Given the description of an element on the screen output the (x, y) to click on. 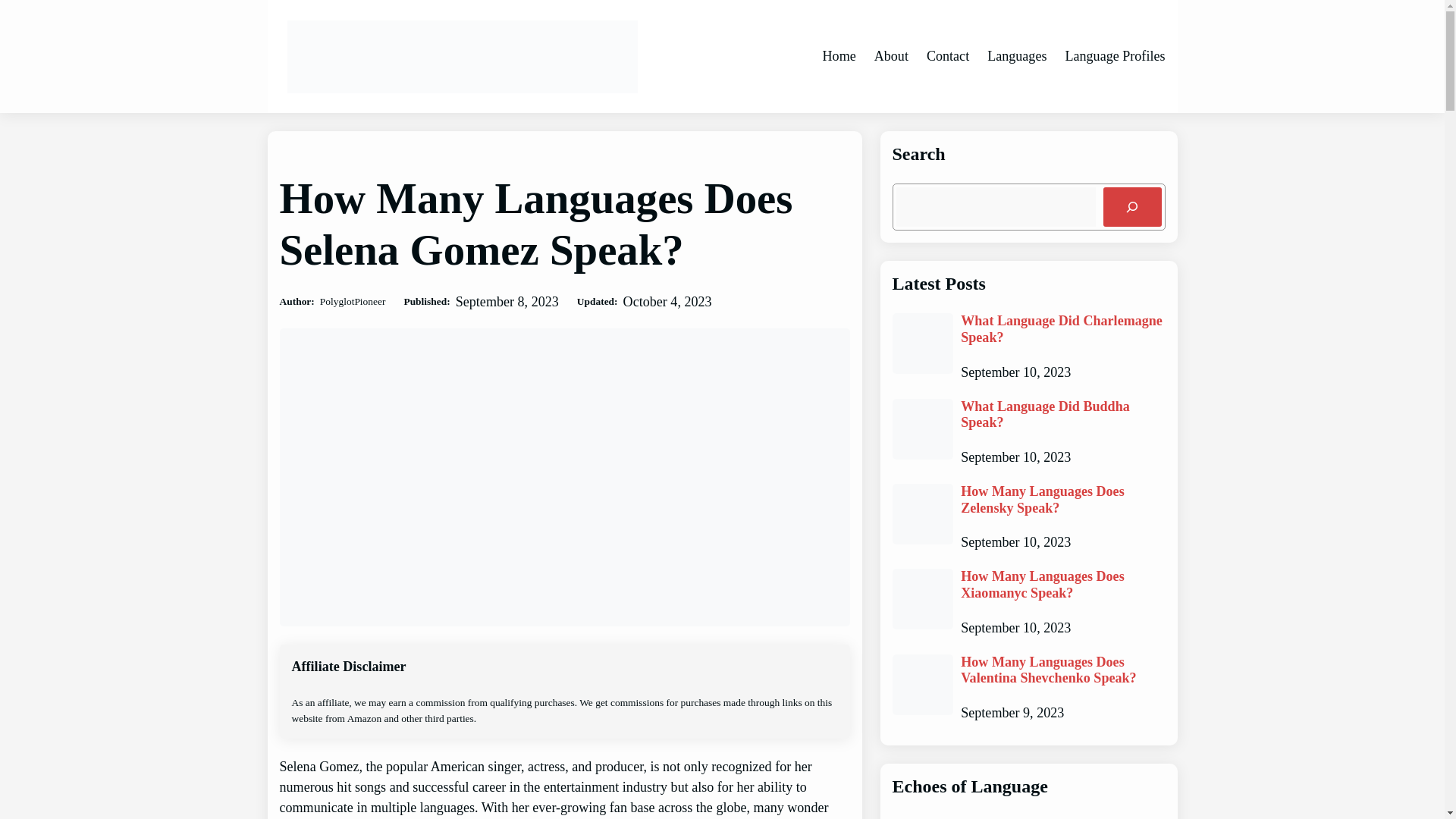
Contact (947, 56)
Home (839, 56)
What Language Did Buddha Speak? (1062, 414)
About (891, 56)
How Many Languages Does Zelensky Speak? (1062, 500)
What Language Did Charlemagne Speak? (1062, 328)
How Many Languages Does Valentina Shevchenko Speak? (1062, 670)
Languages (1016, 56)
How Many Languages Does Xiaomanyc Speak? (1062, 584)
Language Profiles (1114, 56)
